Given the description of an element on the screen output the (x, y) to click on. 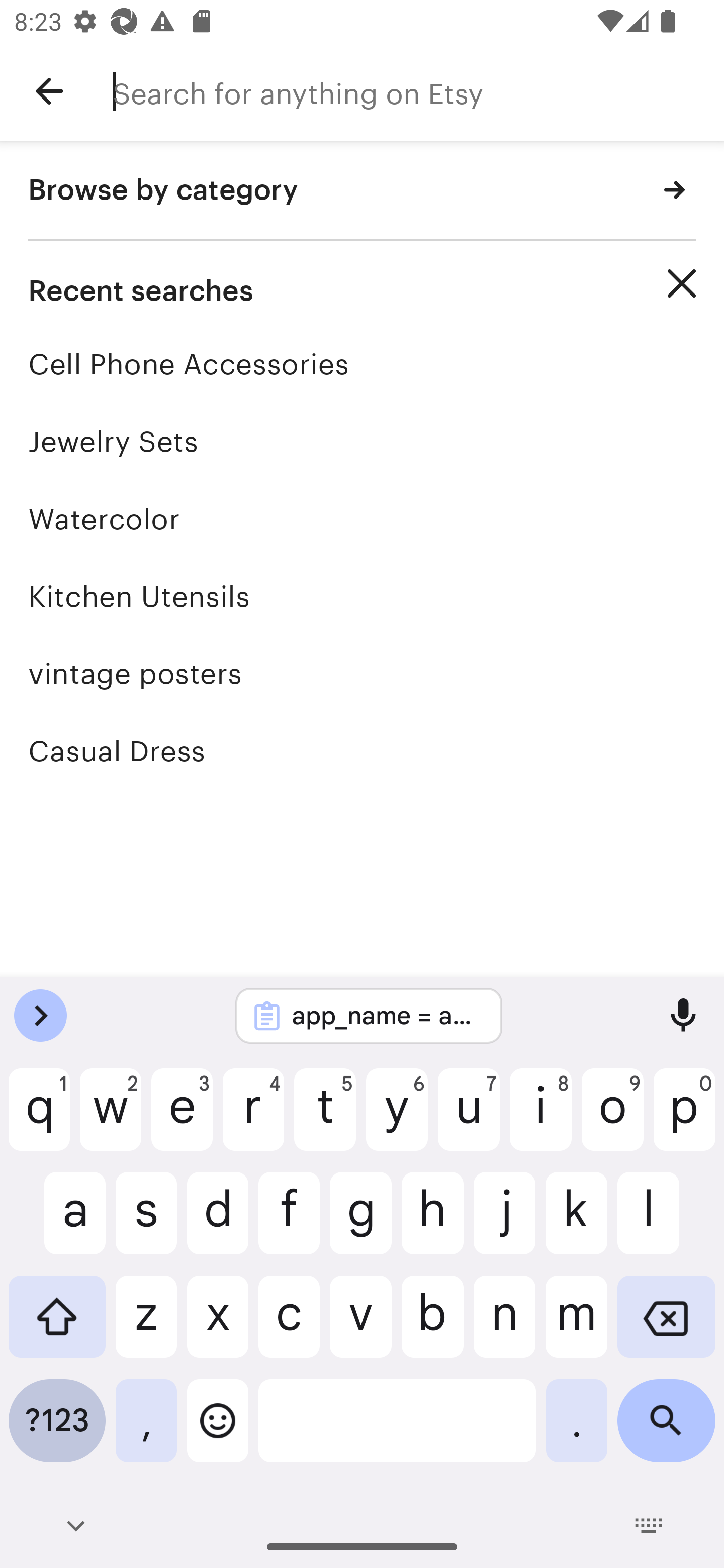
Navigate up (49, 91)
Search for anything on Etsy (418, 91)
Browse by category (362, 191)
Clear (681, 283)
Cell Phone Accessories (362, 364)
Jewelry Sets (362, 440)
Watercolor (362, 518)
Kitchen Utensils (362, 596)
vintage posters (362, 673)
Casual Dress (362, 750)
